Given the description of an element on the screen output the (x, y) to click on. 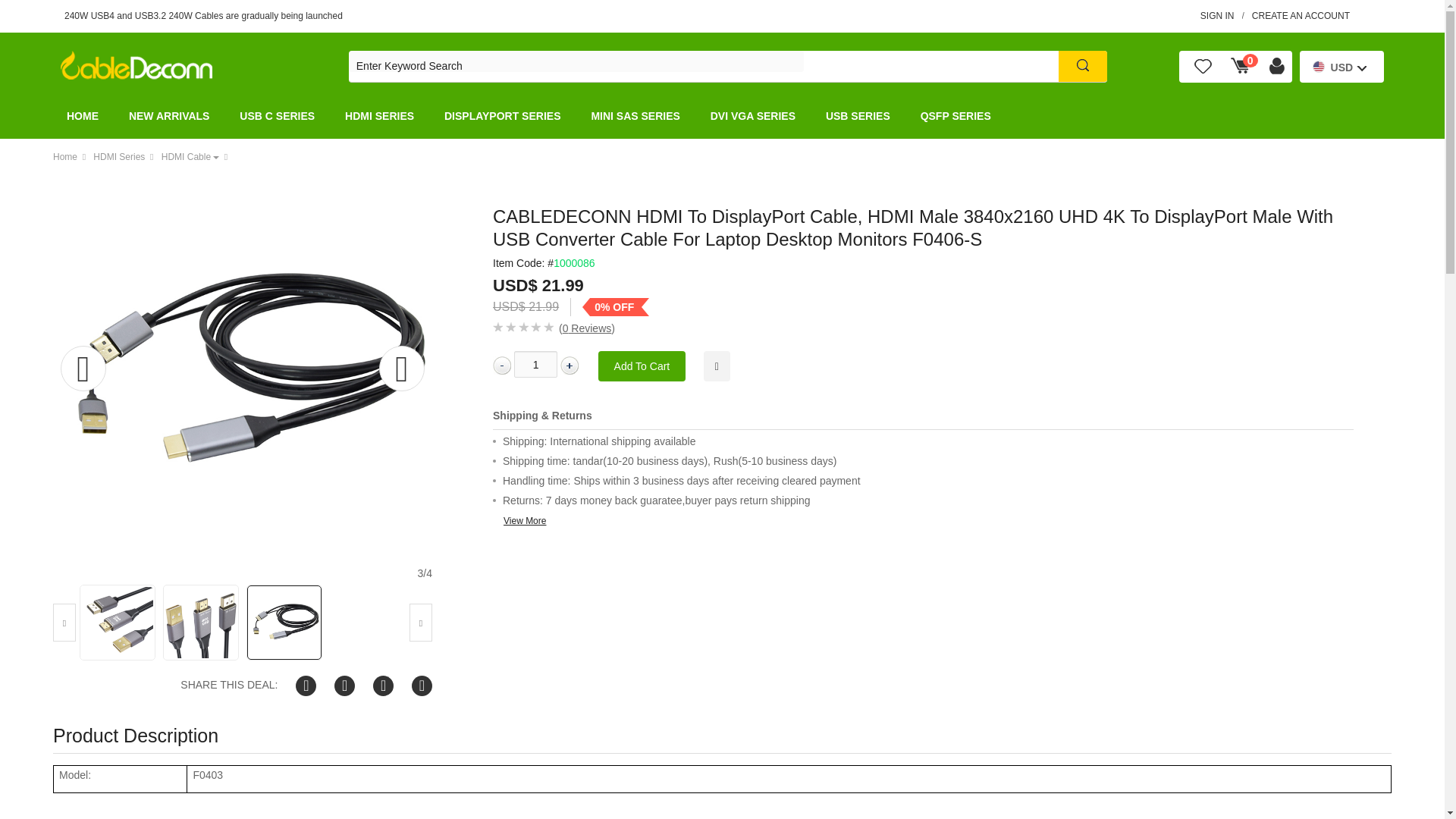
CREATE AN ACCOUNT (1300, 16)
1 (535, 364)
Click To View Larger Image (242, 371)
SIGN IN (1216, 16)
Shopping Cart (1240, 66)
0 (1240, 66)
Click To View Larger Image (26, 371)
My Favorites (1203, 66)
